Given the description of an element on the screen output the (x, y) to click on. 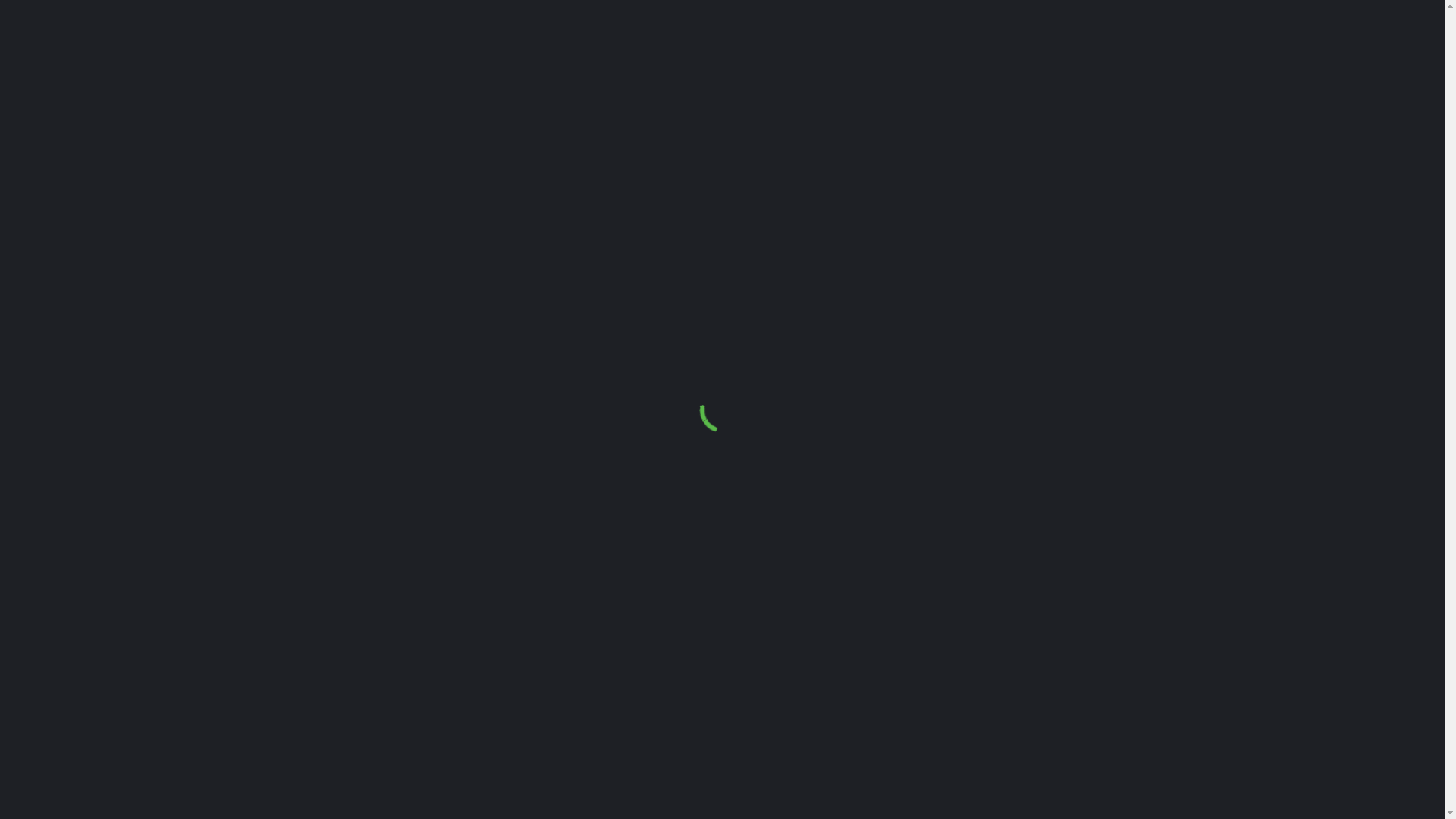
Models Element type: text (1128, 48)
google-plus Element type: text (1357, 48)
Home Element type: text (944, 48)
twitter Element type: text (1308, 48)
Test Ride Element type: text (1067, 48)
About Us Element type: text (1001, 48)
AIC Technologies Element type: text (413, 795)
facebook Element type: text (1332, 48)
search Element type: text (1415, 48)
Blog Element type: text (1176, 48)
Contact Us Element type: text (1234, 48)
Website Element type: text (512, 795)
